Given the description of an element on the screen output the (x, y) to click on. 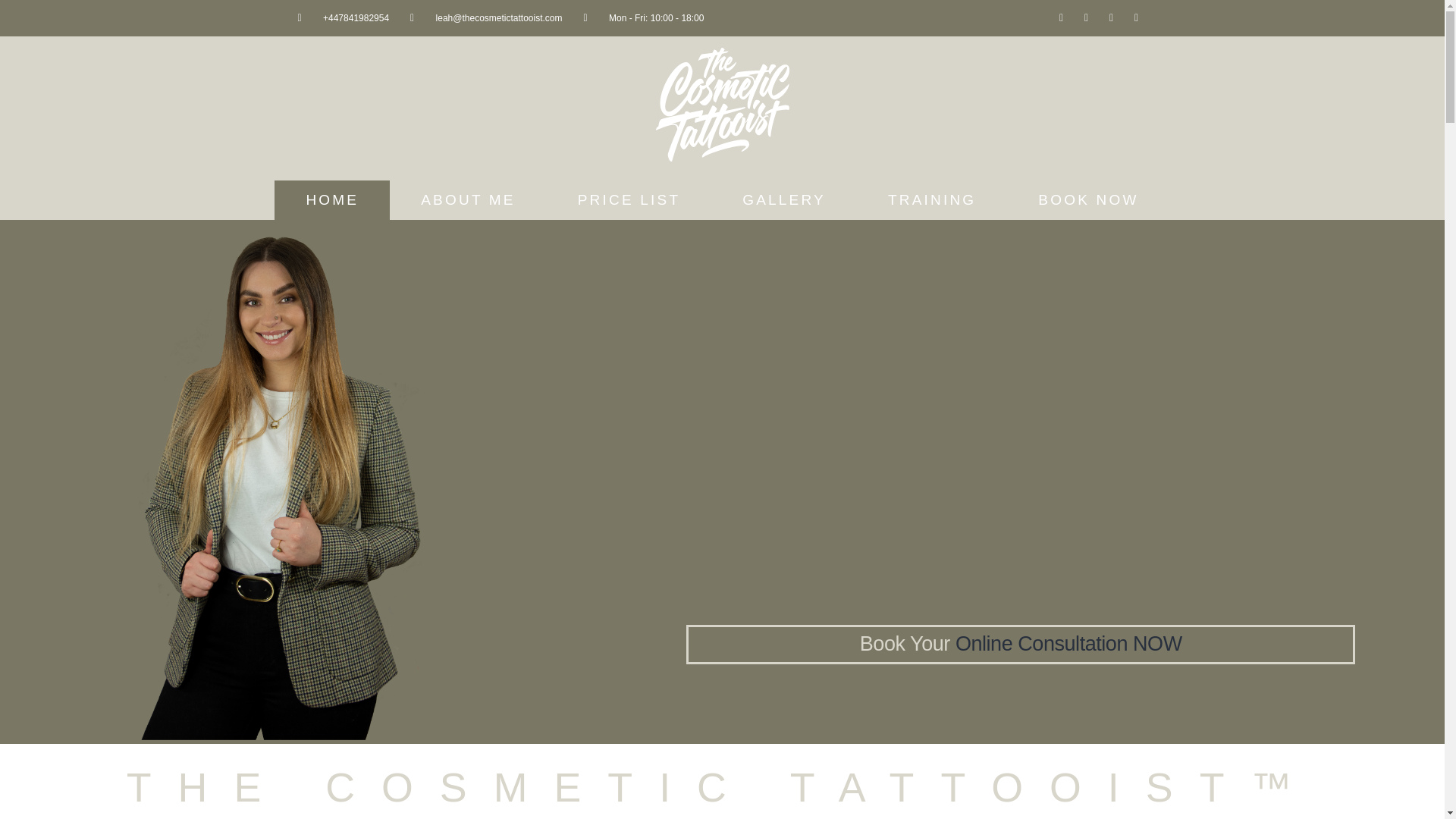
PRICE LIST (629, 200)
GALLERY (784, 200)
Online Consultation NOW (1077, 643)
ABOUT ME (468, 200)
HOME (332, 200)
TRAINING (932, 200)
BOOK NOW (1088, 200)
